Given the description of an element on the screen output the (x, y) to click on. 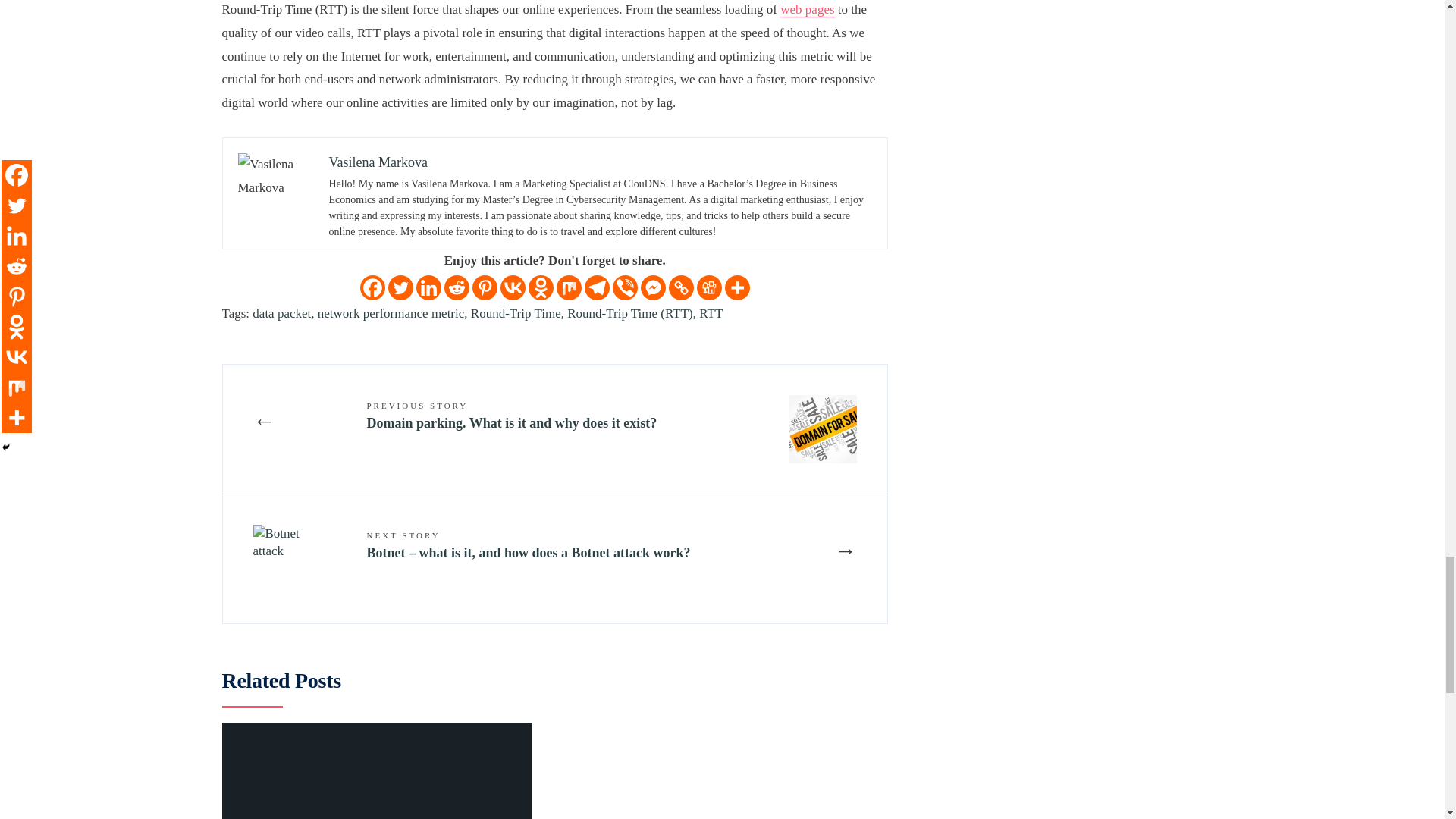
web pages (807, 9)
Vasilena Markova (378, 161)
Twitter (400, 287)
Telegram (597, 287)
Linkedin (428, 287)
Reddit (456, 287)
Pinterest (484, 287)
Vkontakte (512, 287)
Facebook (372, 287)
Mix (568, 287)
